Given the description of an element on the screen output the (x, y) to click on. 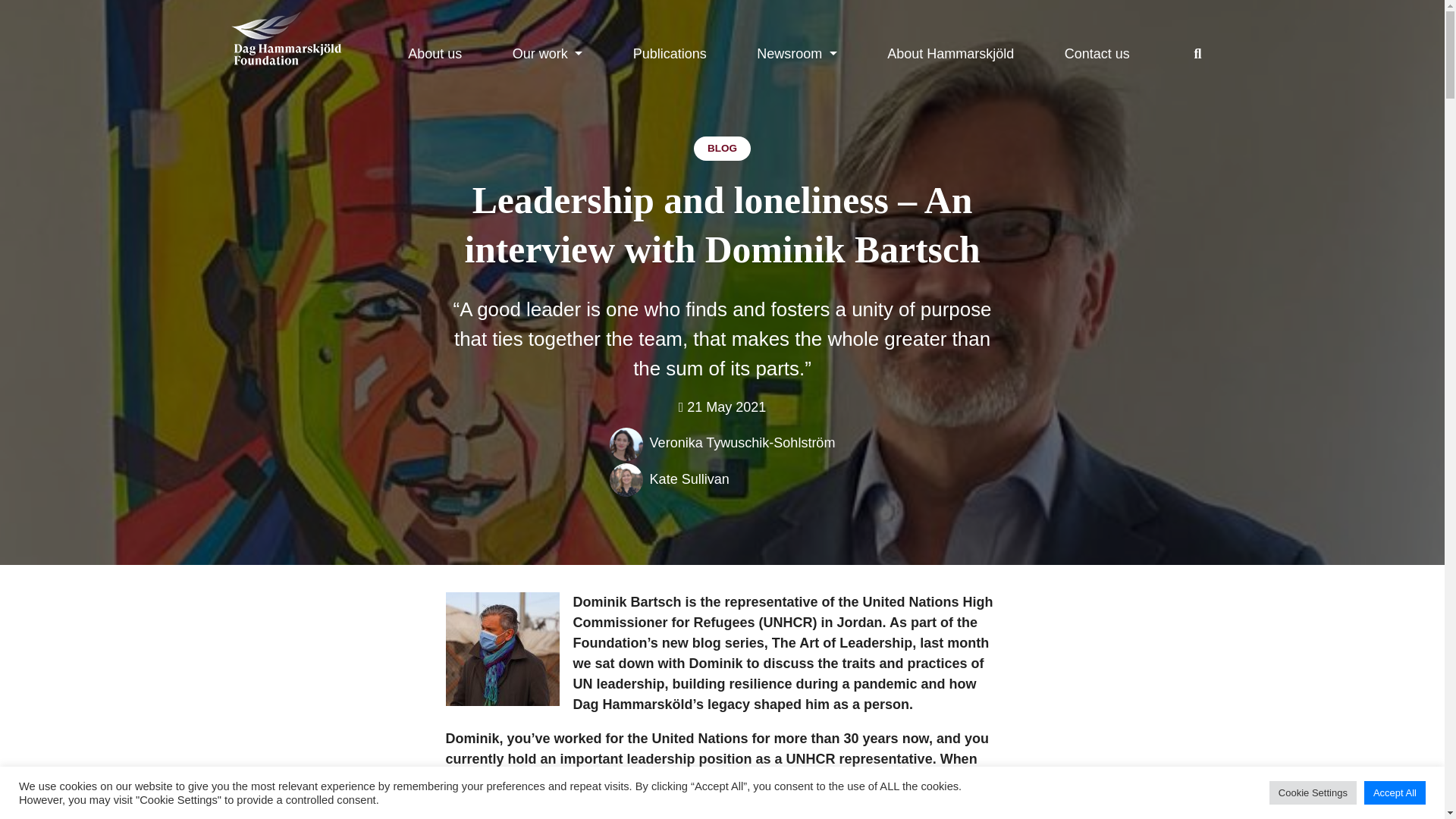
Kate Sullivan (669, 478)
Our work (547, 53)
Publications (670, 53)
Our work (547, 53)
Newsroom (796, 53)
Contact us (1096, 53)
About us (434, 53)
About us (434, 53)
